Given the description of an element on the screen output the (x, y) to click on. 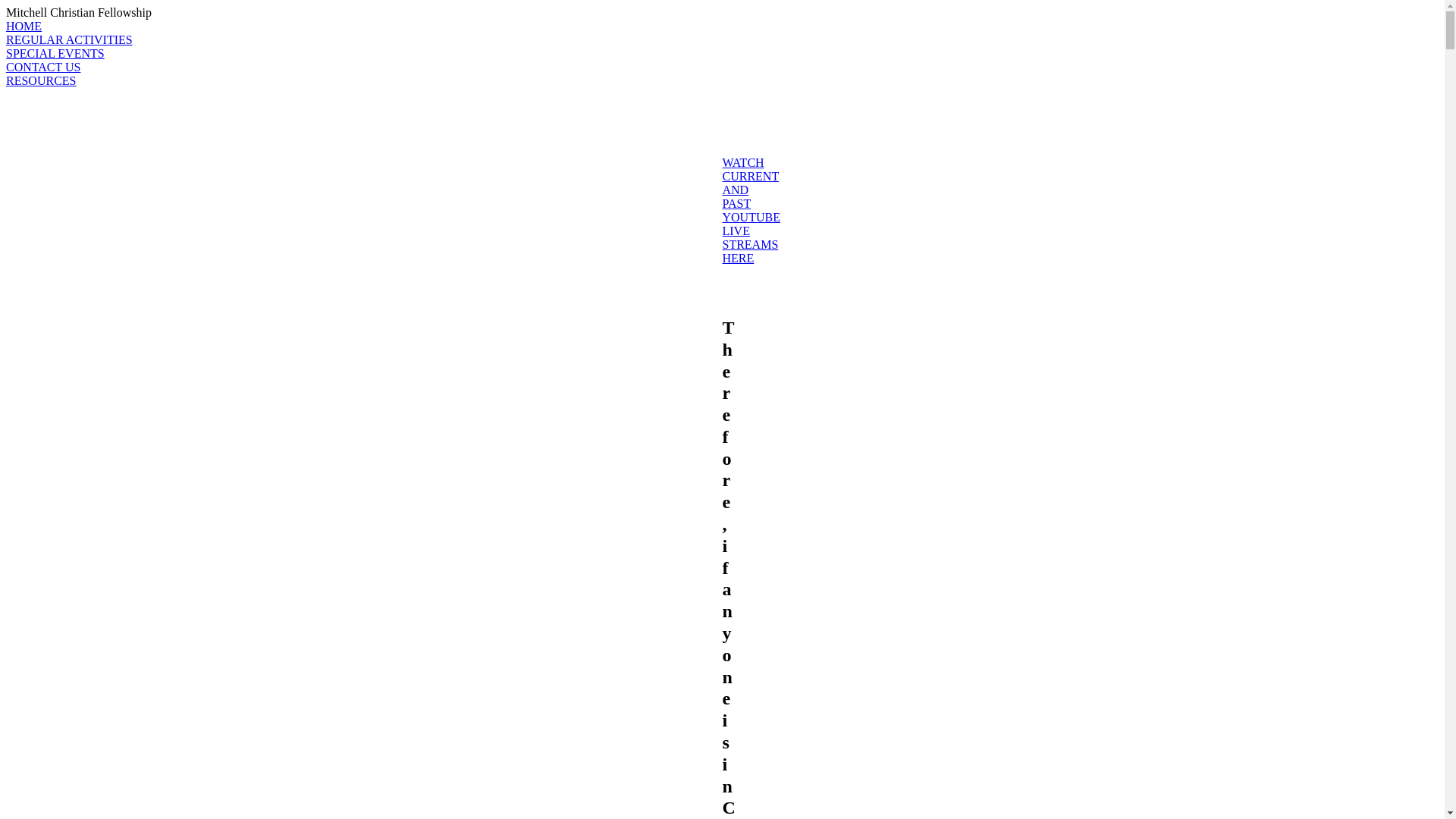
SPECIAL EVENTS Element type: text (722, 53)
REGULAR ACTIVITIES Element type: text (722, 40)
CONTACT US Element type: text (722, 67)
HOME Element type: text (722, 26)
RESOURCES Element type: text (722, 80)
WATCH CURRENT AND PAST YOUTUBE LIVE STREAMS HERE Element type: text (750, 210)
